Given the description of an element on the screen output the (x, y) to click on. 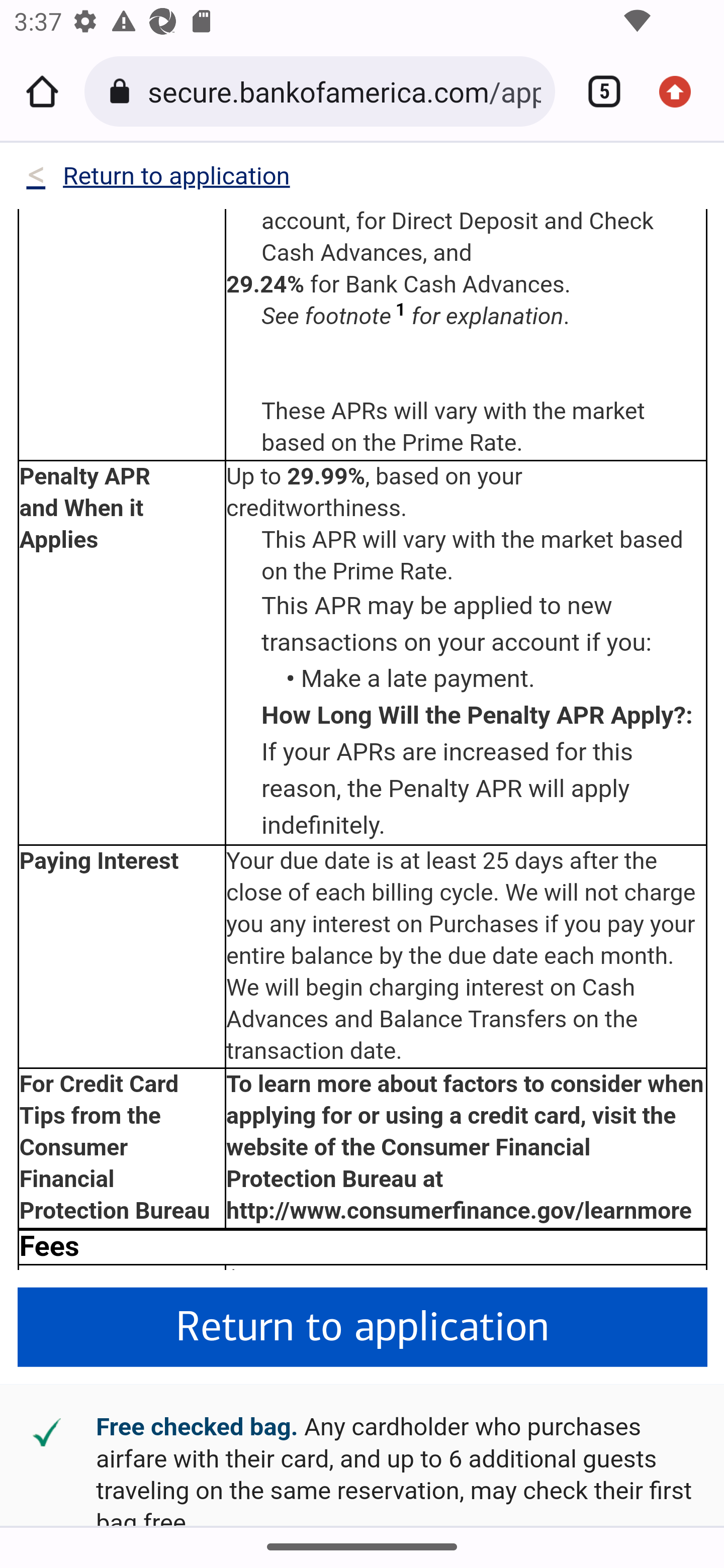
Home (42, 91)
Connection is secure (122, 91)
Switch or close tabs (597, 91)
Update available. More options (681, 91)
<Return to application < Return to application (157, 180)
Return to application (362, 1327)
